Given the description of an element on the screen output the (x, y) to click on. 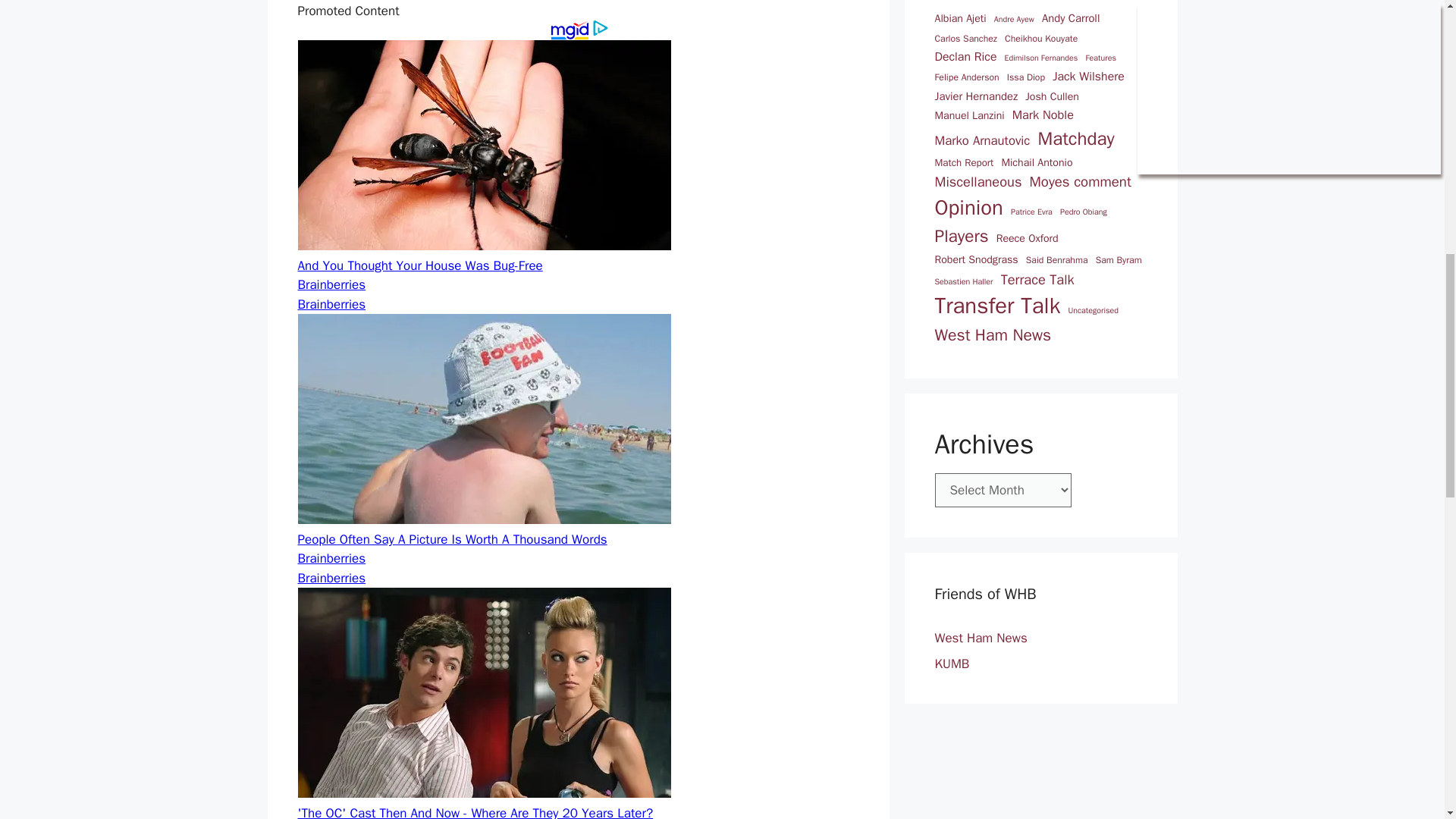
Edimilson Fernandes (1041, 58)
Features (1101, 58)
Declan Rice (964, 57)
Issa Diop (1026, 77)
Cheikhou Kouyate (1040, 38)
Andre Ayew (1013, 19)
Albian Ajeti (959, 18)
Carlos Sanchez (964, 38)
Mark Noble (1042, 115)
Josh Cullen (1051, 96)
